Given the description of an element on the screen output the (x, y) to click on. 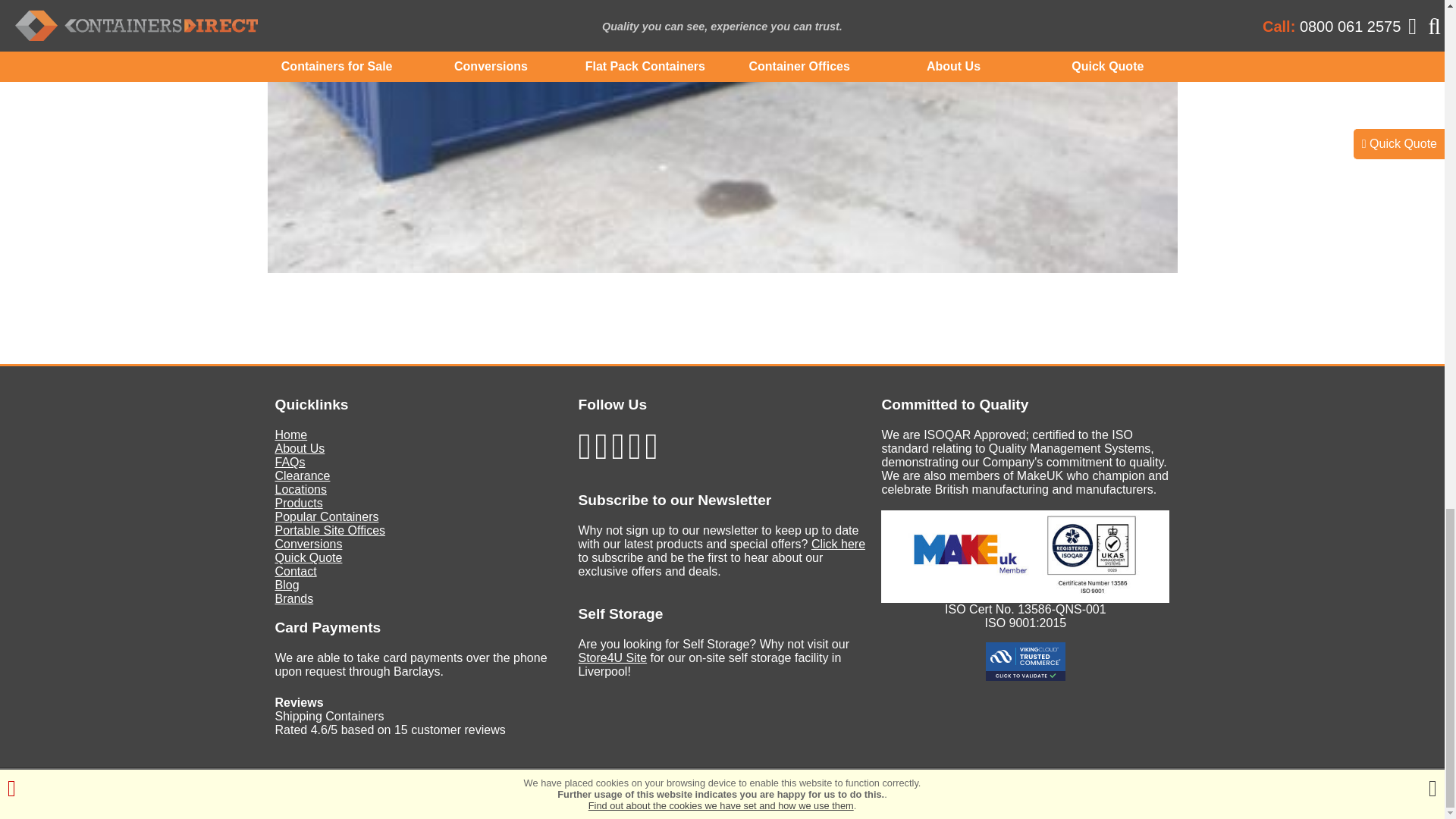
Home (291, 434)
About Us (299, 448)
Popular Containers (326, 516)
Clearance (302, 475)
Products (298, 502)
Locations (300, 489)
FAQs (289, 461)
